Given the description of an element on the screen output the (x, y) to click on. 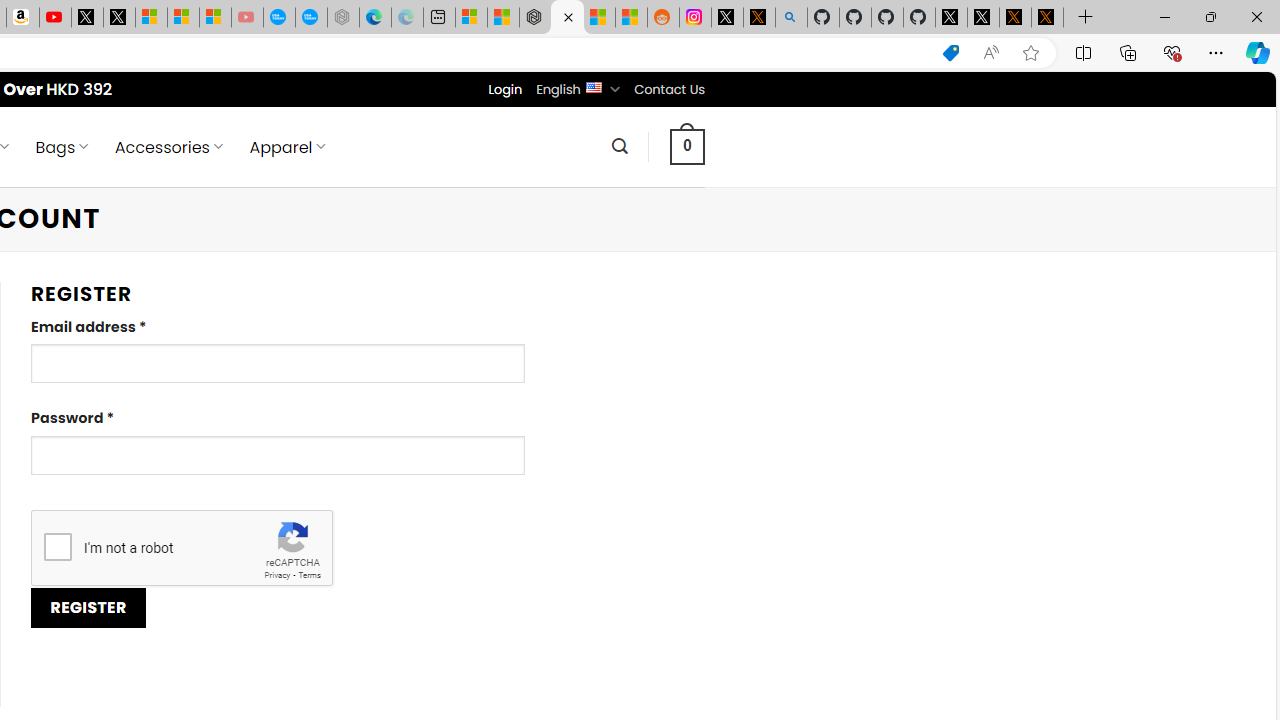
Contact Us (669, 89)
REGISTER (88, 607)
Log in to X / X (727, 17)
github - Search (791, 17)
Privacy (276, 575)
I'm not a robot (57, 546)
